Given the description of an element on the screen output the (x, y) to click on. 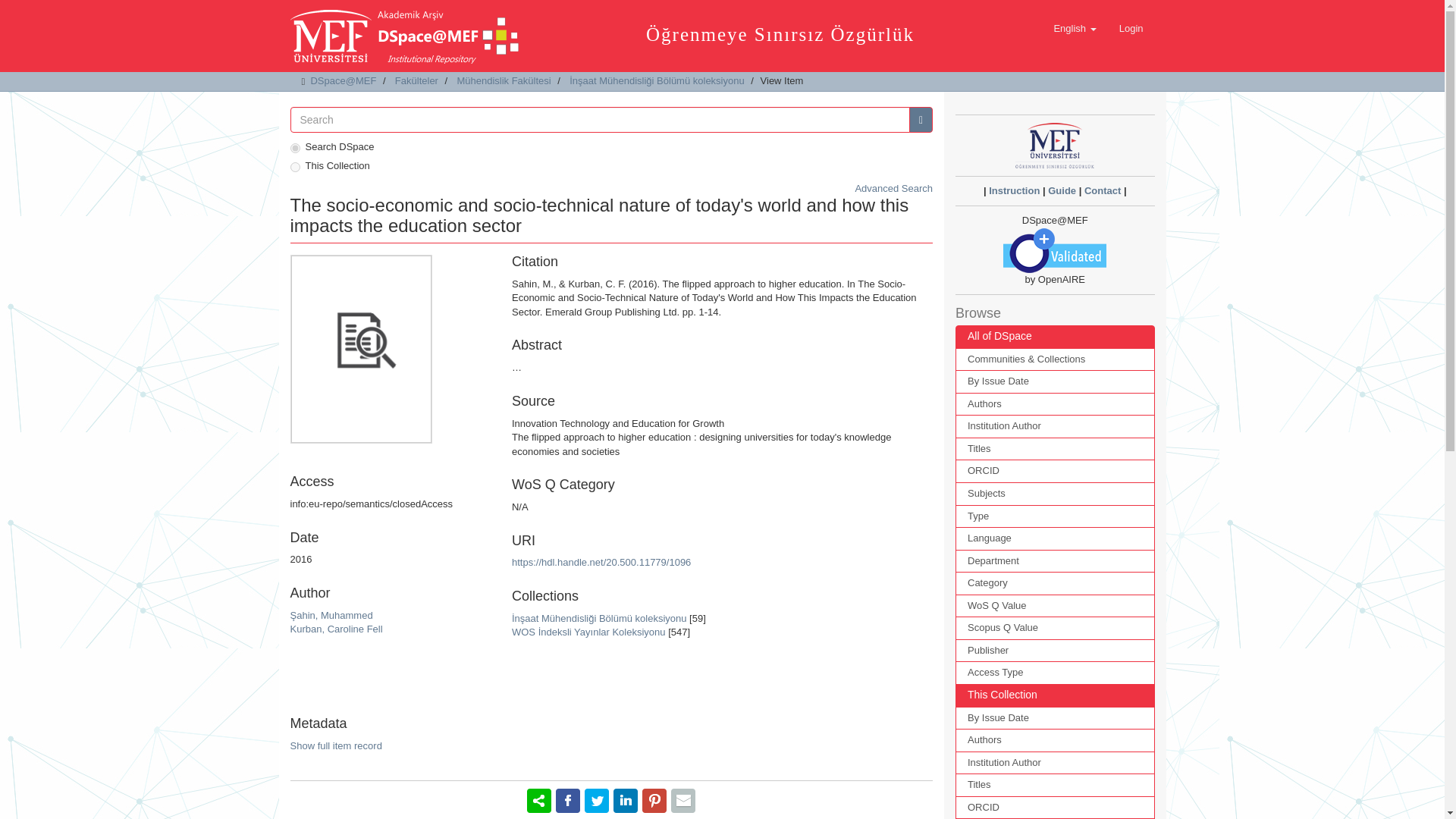
Kurban, Caroline Fell (335, 628)
Show full item record (335, 745)
Guide (1061, 190)
Instruction (1013, 190)
Login (1131, 28)
Contact (1102, 190)
Advanced Search (893, 188)
Go (920, 119)
English  (1074, 28)
